Given the description of an element on the screen output the (x, y) to click on. 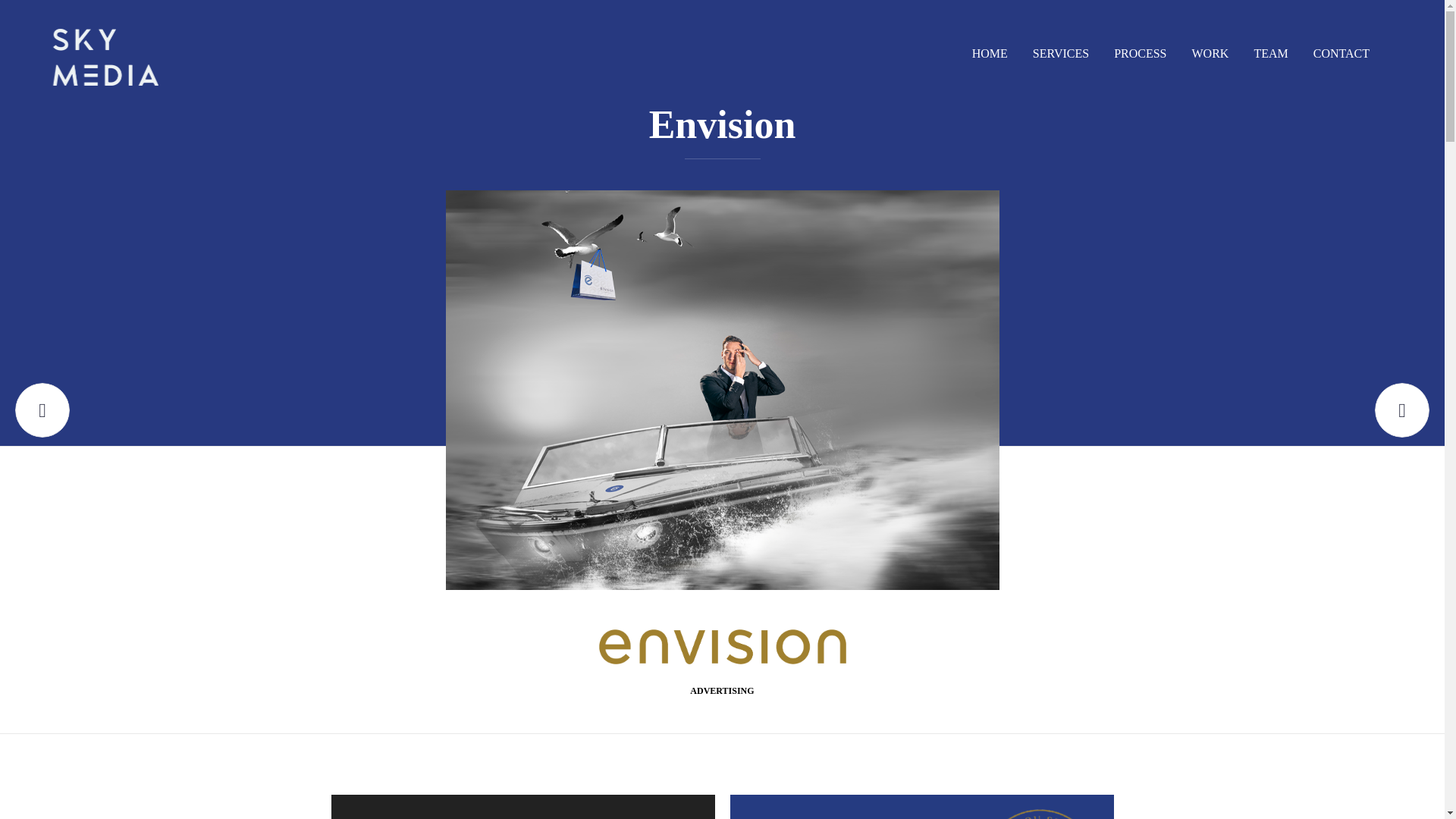
envision logo (921, 806)
TEAM (1269, 53)
PROCESS (1139, 53)
WORK (1209, 53)
HOME (989, 53)
Sky Media (105, 56)
SERVICES (1061, 53)
CONTACT (1340, 53)
ADVERTISING (722, 691)
